Given the description of an element on the screen output the (x, y) to click on. 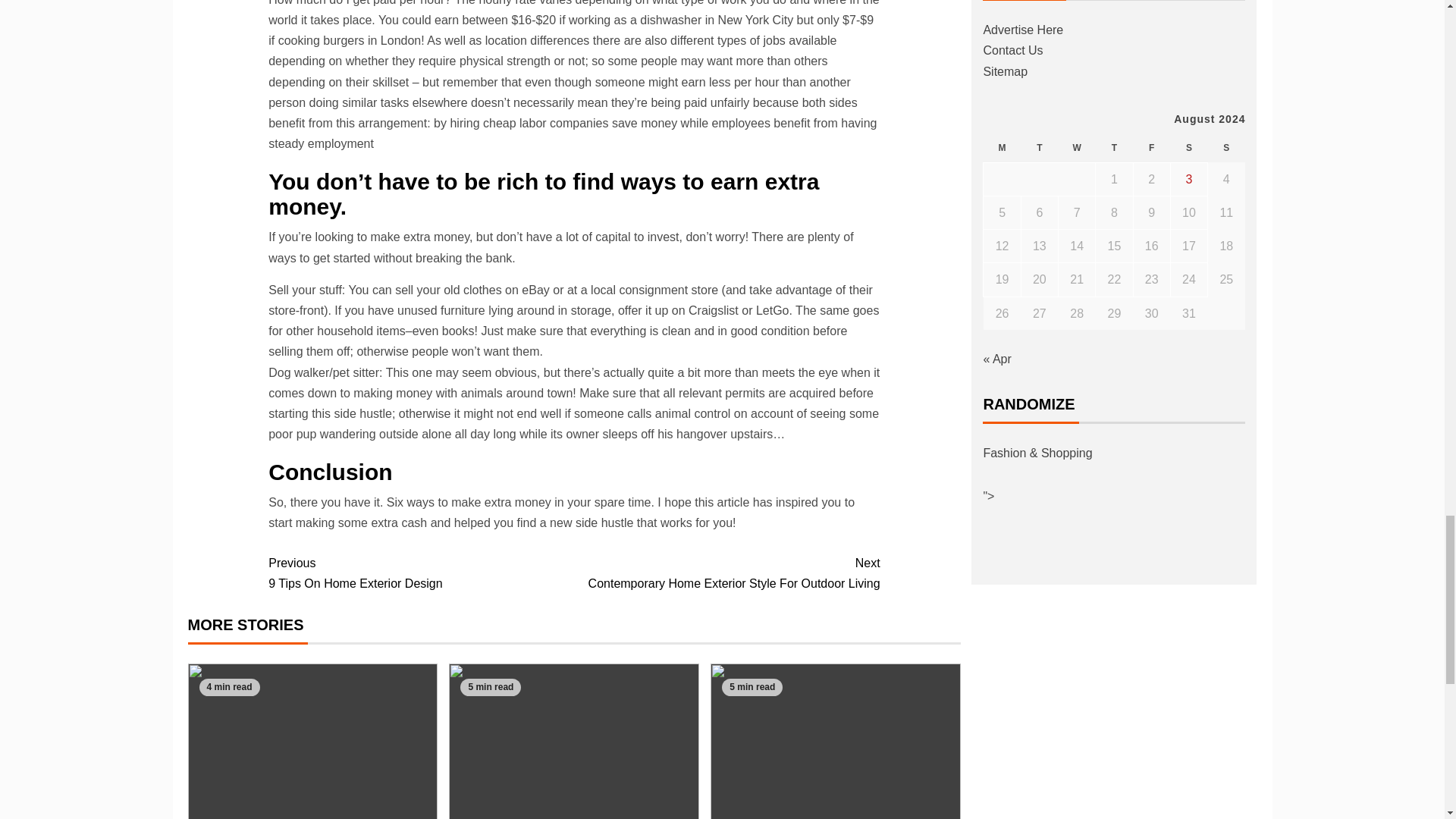
Saturday (1188, 148)
Tuesday (1039, 148)
Friday (1151, 148)
Thursday (1114, 148)
Monday (1002, 148)
Wednesday (726, 572)
Sunday (420, 572)
